Given the description of an element on the screen output the (x, y) to click on. 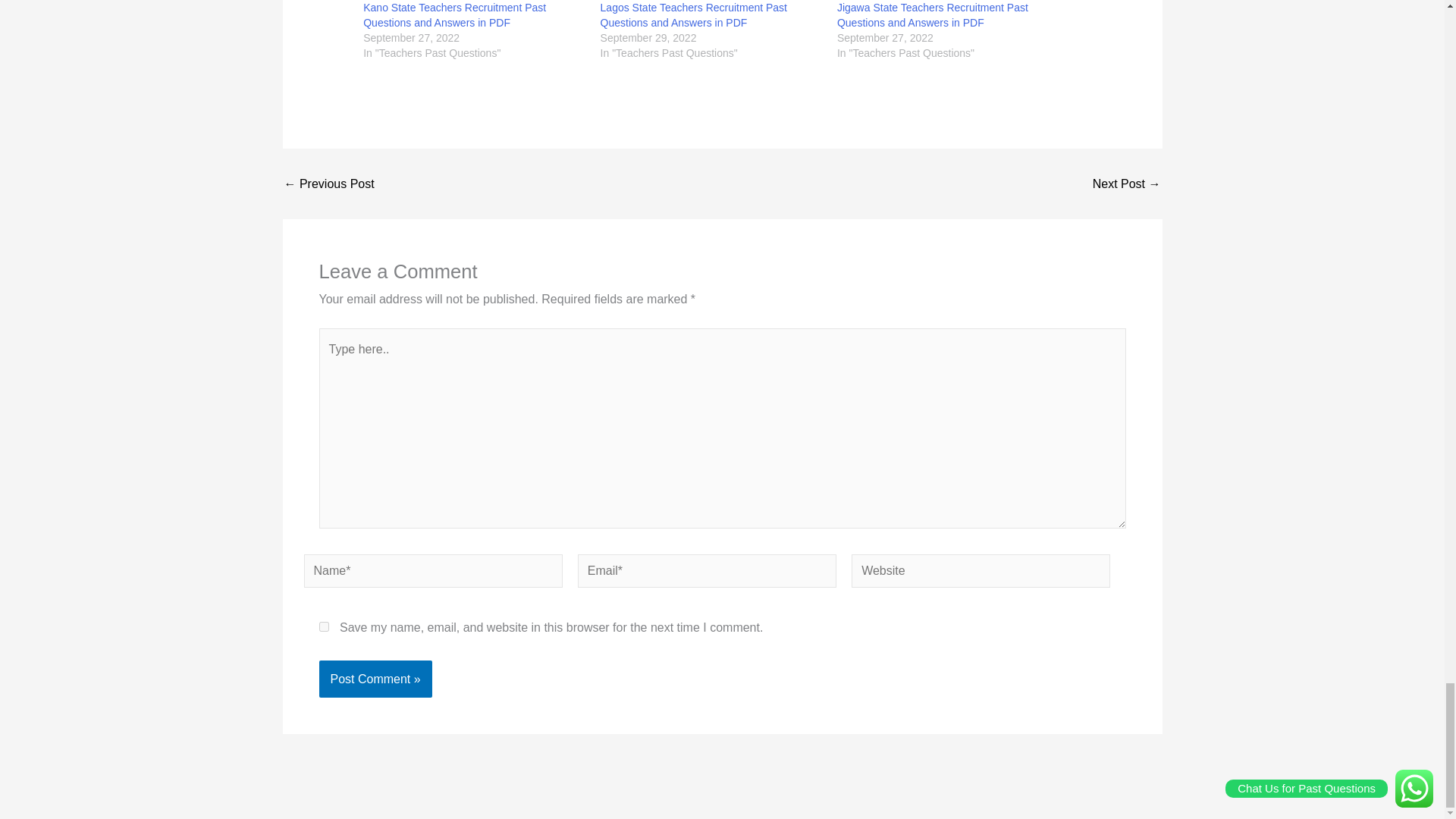
yes (323, 626)
